Given the description of an element on the screen output the (x, y) to click on. 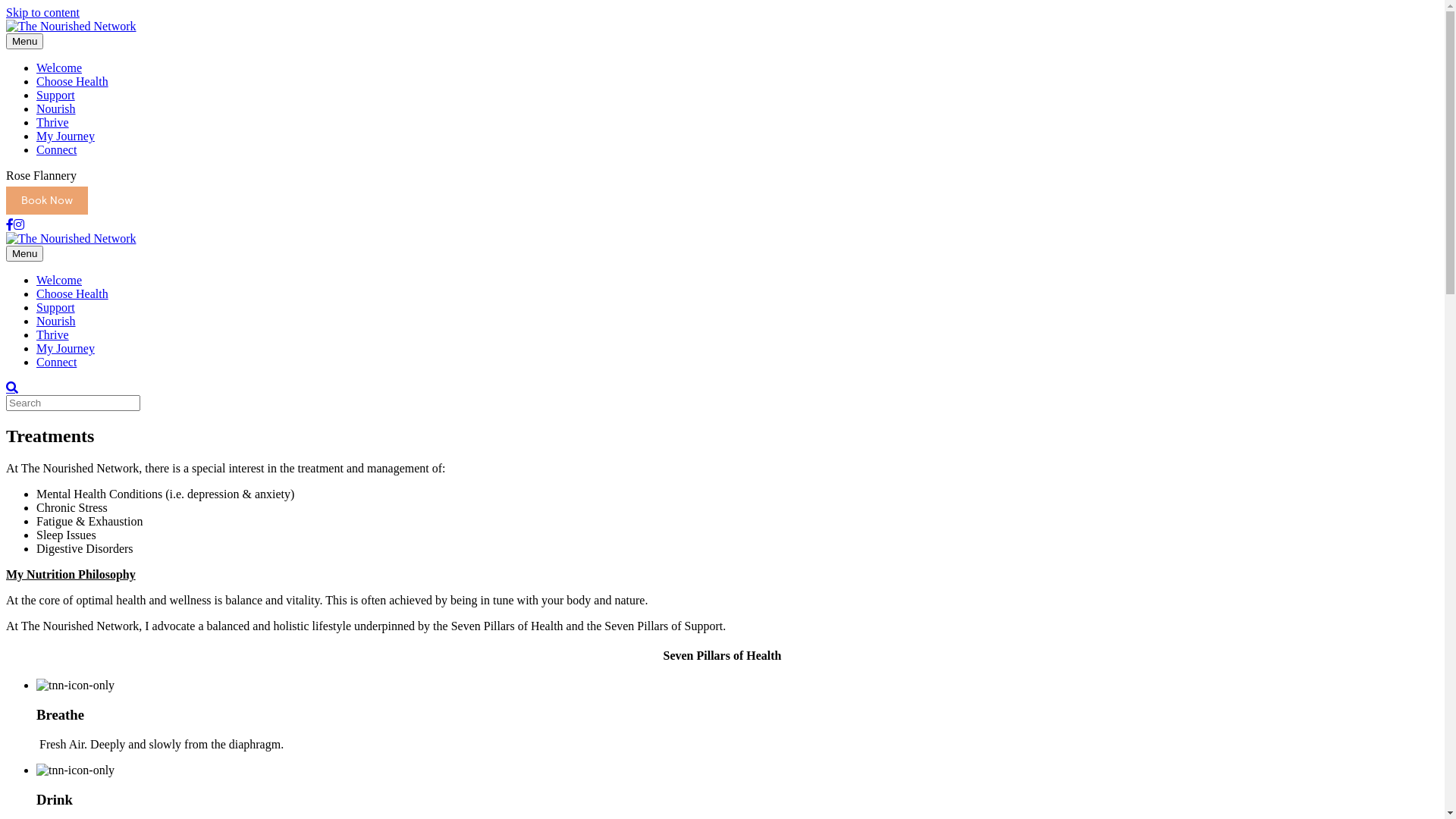
Choose Health Element type: text (72, 81)
Connect Element type: text (56, 149)
Nourish Element type: text (55, 108)
Welcome Element type: text (58, 279)
Choose Health Element type: text (72, 293)
Facebook Element type: text (9, 224)
Instagram Element type: text (18, 224)
Type and press Enter to search. Element type: hover (722, 403)
Menu Element type: text (24, 41)
Thrive Element type: text (52, 122)
Welcome Element type: text (58, 67)
Connect Element type: text (56, 361)
Support Element type: text (55, 94)
Nourish Element type: text (55, 320)
Book Now Element type: text (46, 200)
Skip to content Element type: text (42, 12)
Menu Element type: text (24, 253)
Support Element type: text (55, 307)
Thrive Element type: text (52, 334)
My Journey Element type: text (65, 135)
My Journey Element type: text (65, 348)
